Given the description of an element on the screen output the (x, y) to click on. 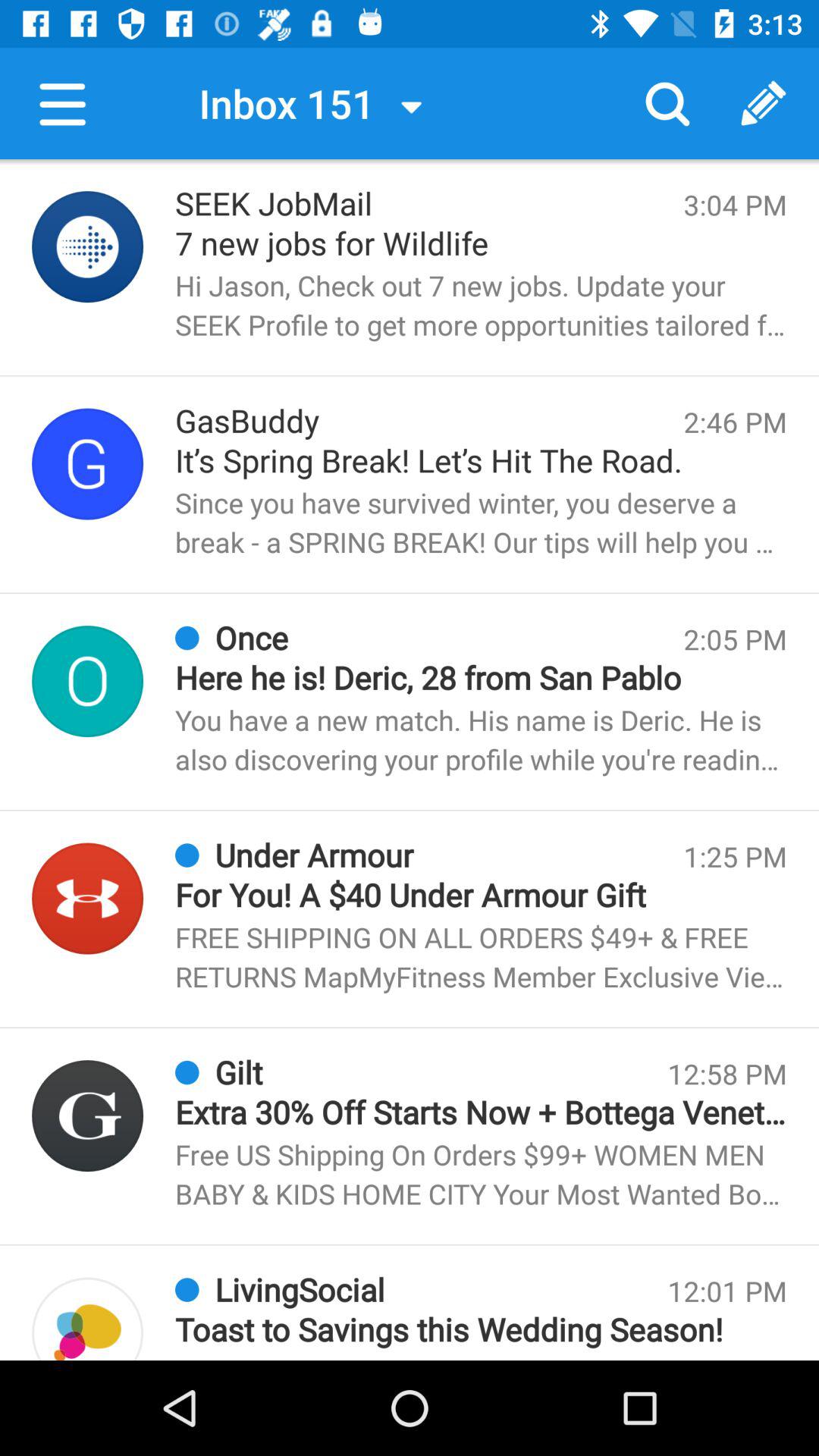
save with gas buddy (87, 463)
